Given the description of an element on the screen output the (x, y) to click on. 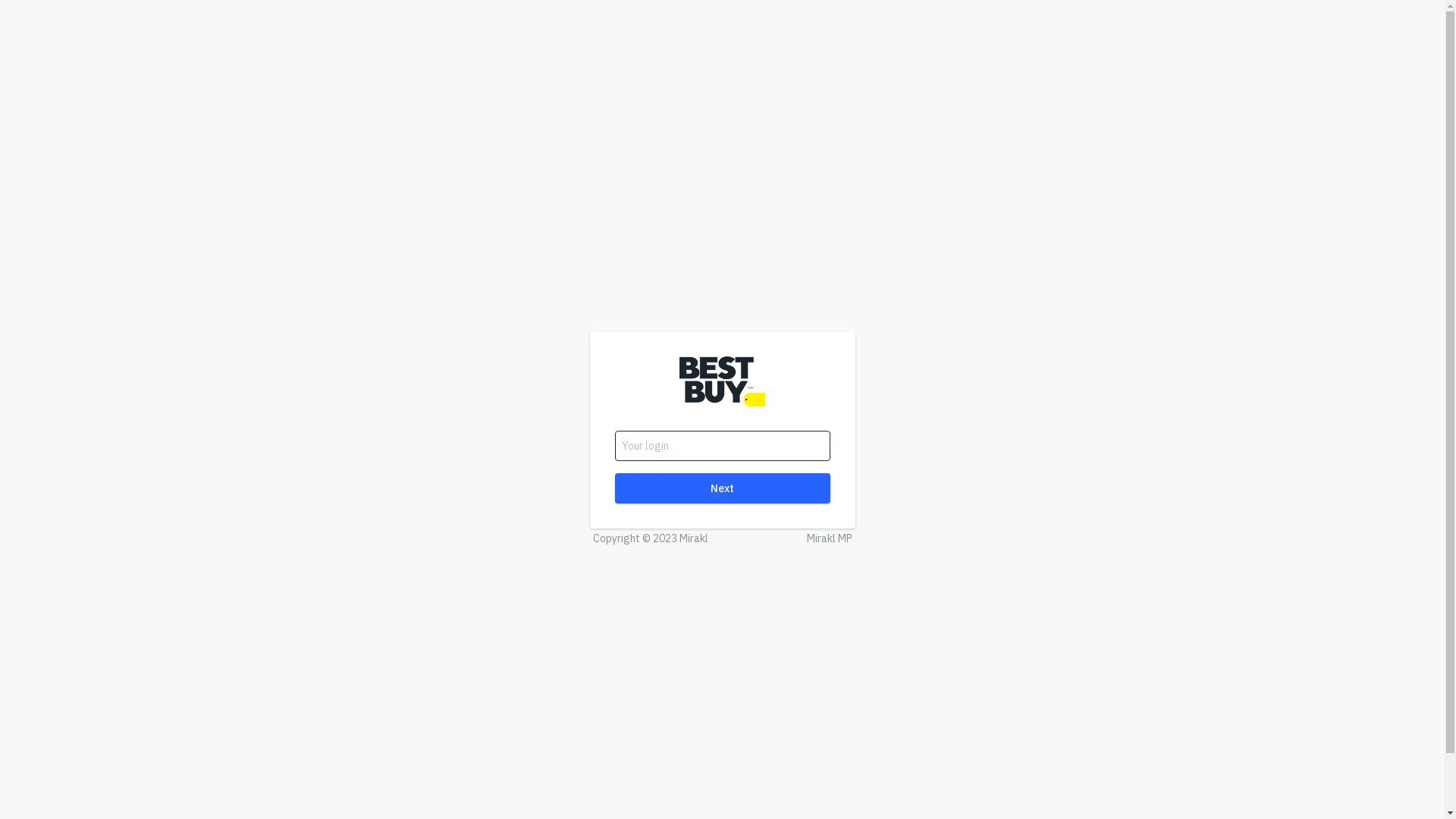
Next Element type: text (721, 488)
